Given the description of an element on the screen output the (x, y) to click on. 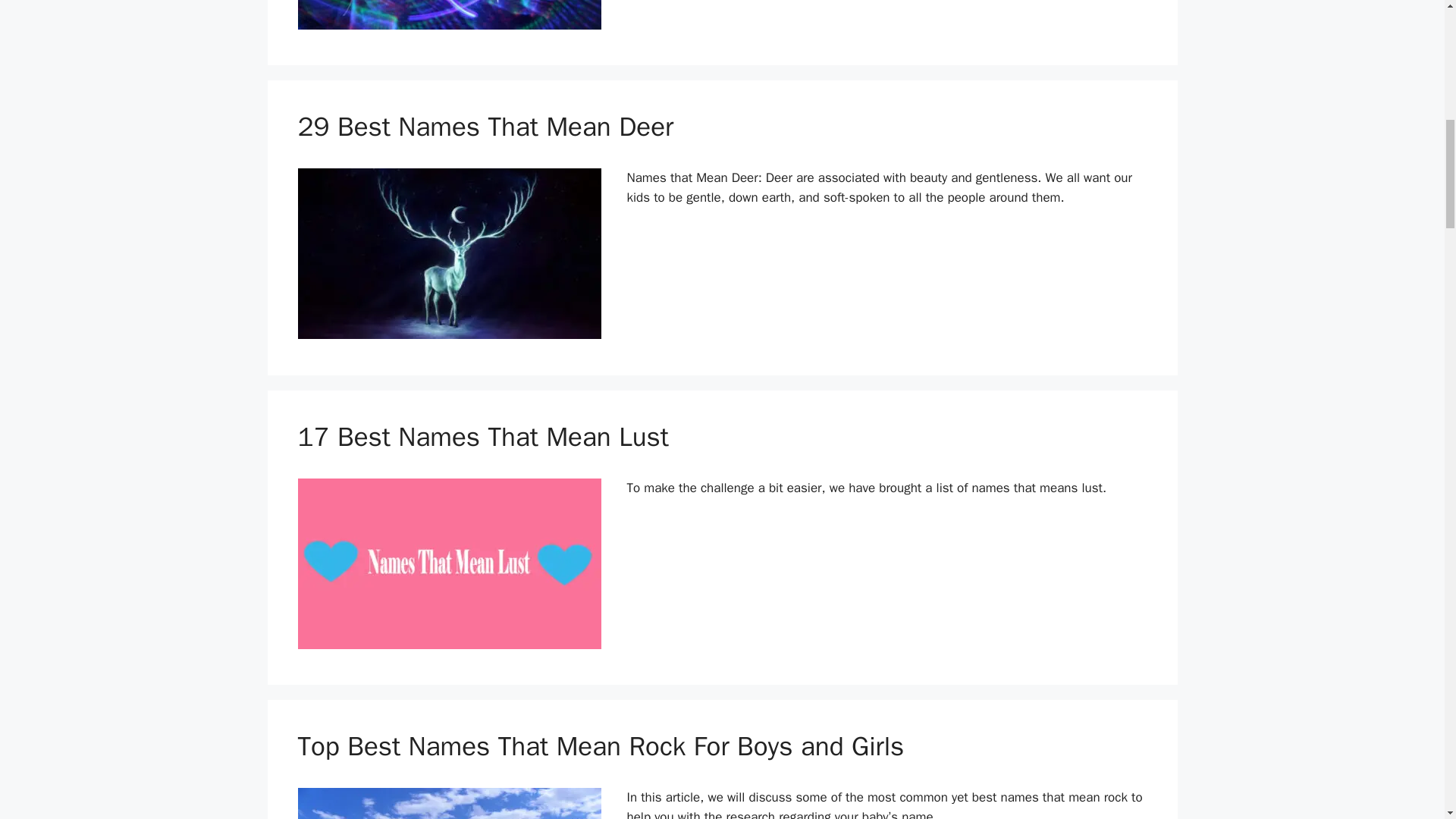
Top Best Names That Mean Rock For Boys and Girls (600, 745)
Scroll back to top (1406, 720)
29 Best Names That Mean Deer (484, 126)
17 Best Names That Mean Lust (482, 436)
